Given the description of an element on the screen output the (x, y) to click on. 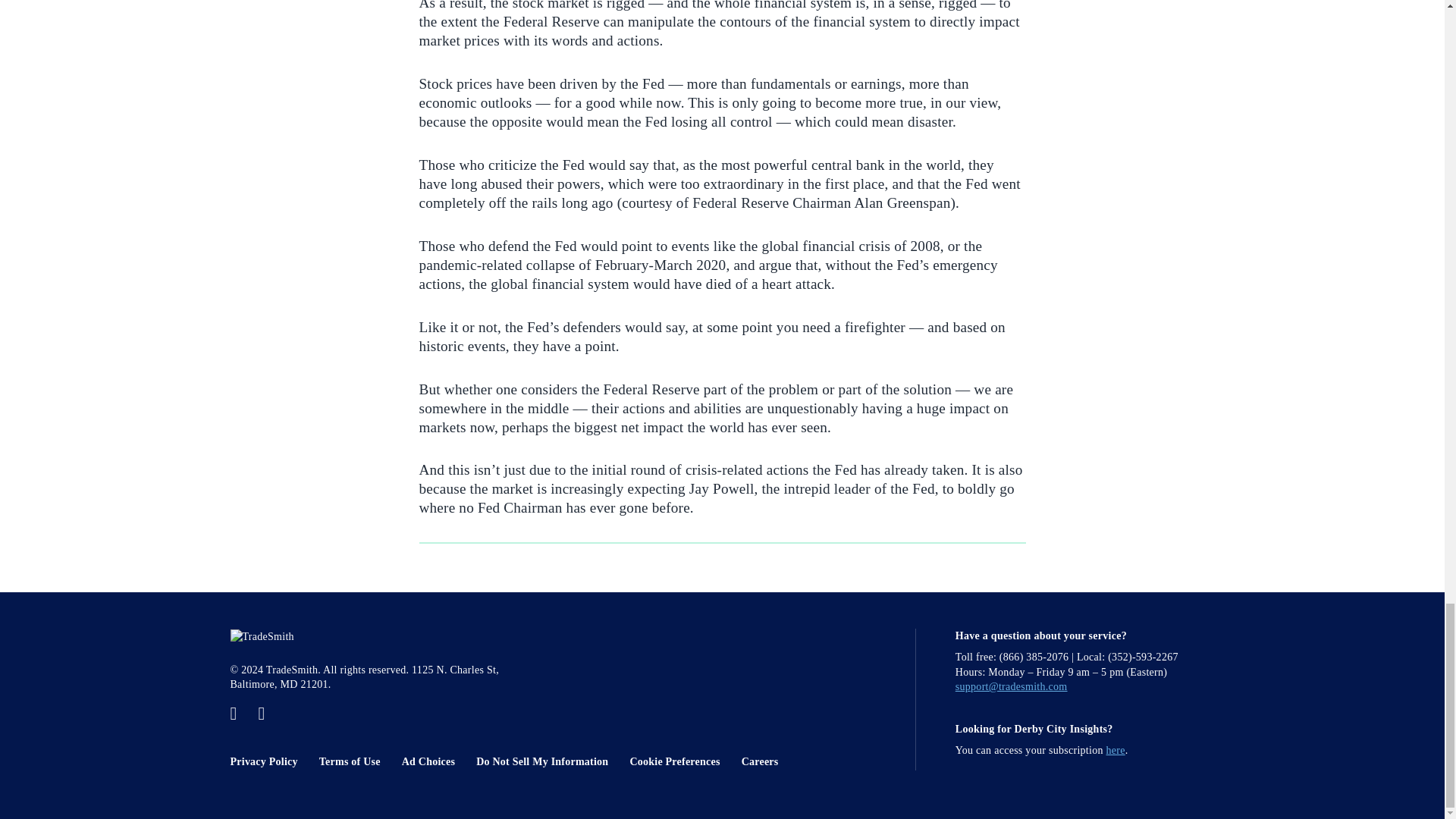
Do Not Sell My Information (551, 761)
Privacy Policy (272, 761)
Cookie Preferences (683, 761)
Careers (768, 761)
Looking for Derby City Insights? (1034, 728)
Ad Choices (437, 761)
Terms of Use (358, 761)
here (1115, 749)
